Given the description of an element on the screen output the (x, y) to click on. 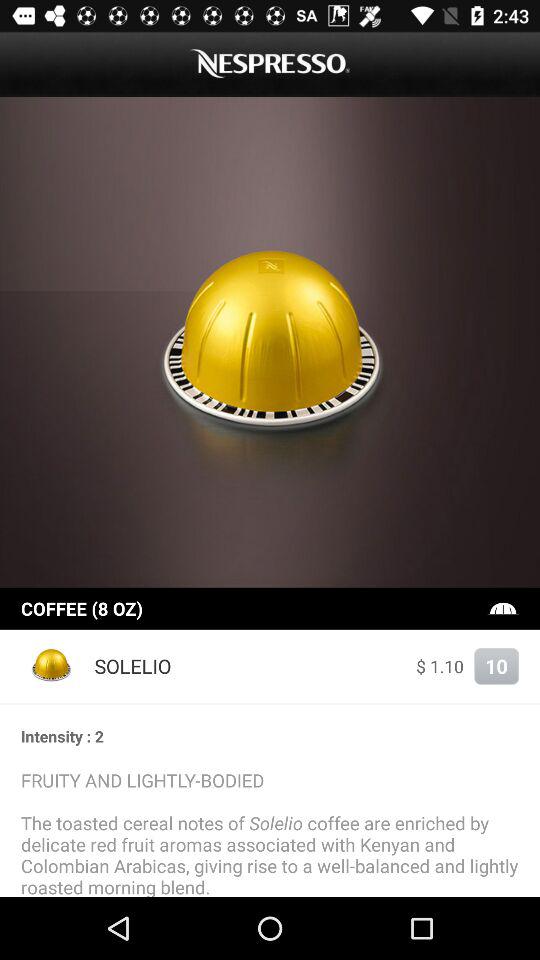
select item to the right of the solelio icon (439, 666)
